Given the description of an element on the screen output the (x, y) to click on. 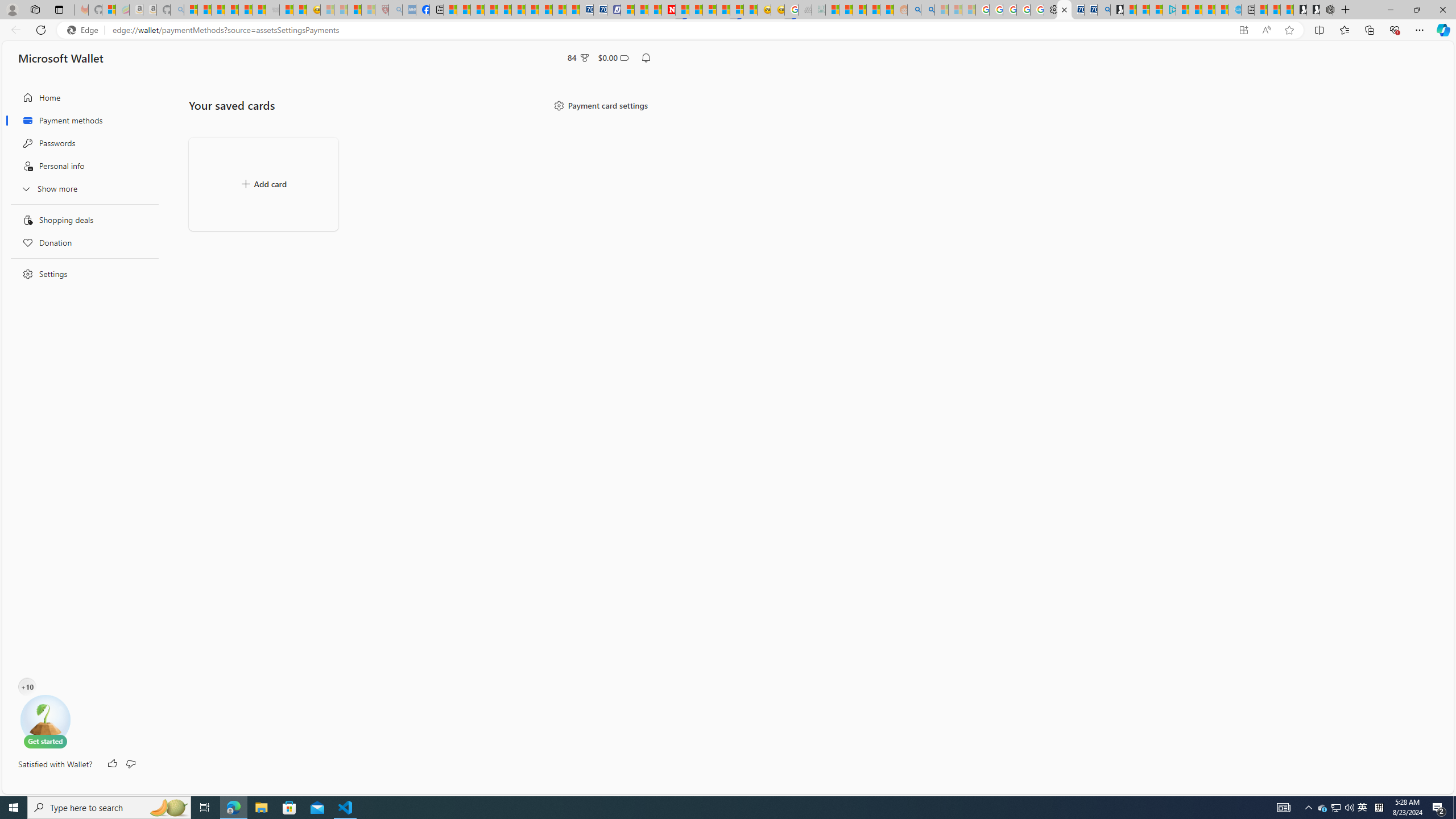
Show more (81, 188)
Utah sues federal government - Search (927, 9)
Shopping deals (81, 219)
